Given the description of an element on the screen output the (x, y) to click on. 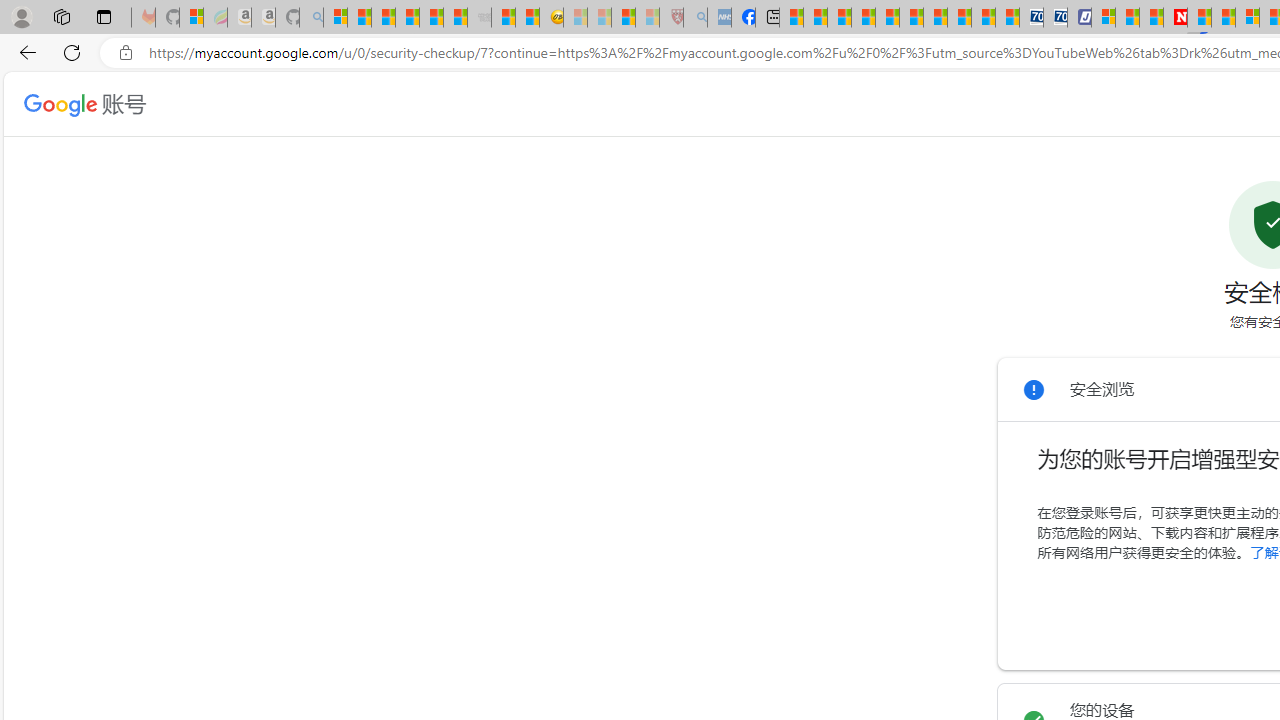
The Weather Channel - MSN (383, 17)
